Given the description of an element on the screen output the (x, y) to click on. 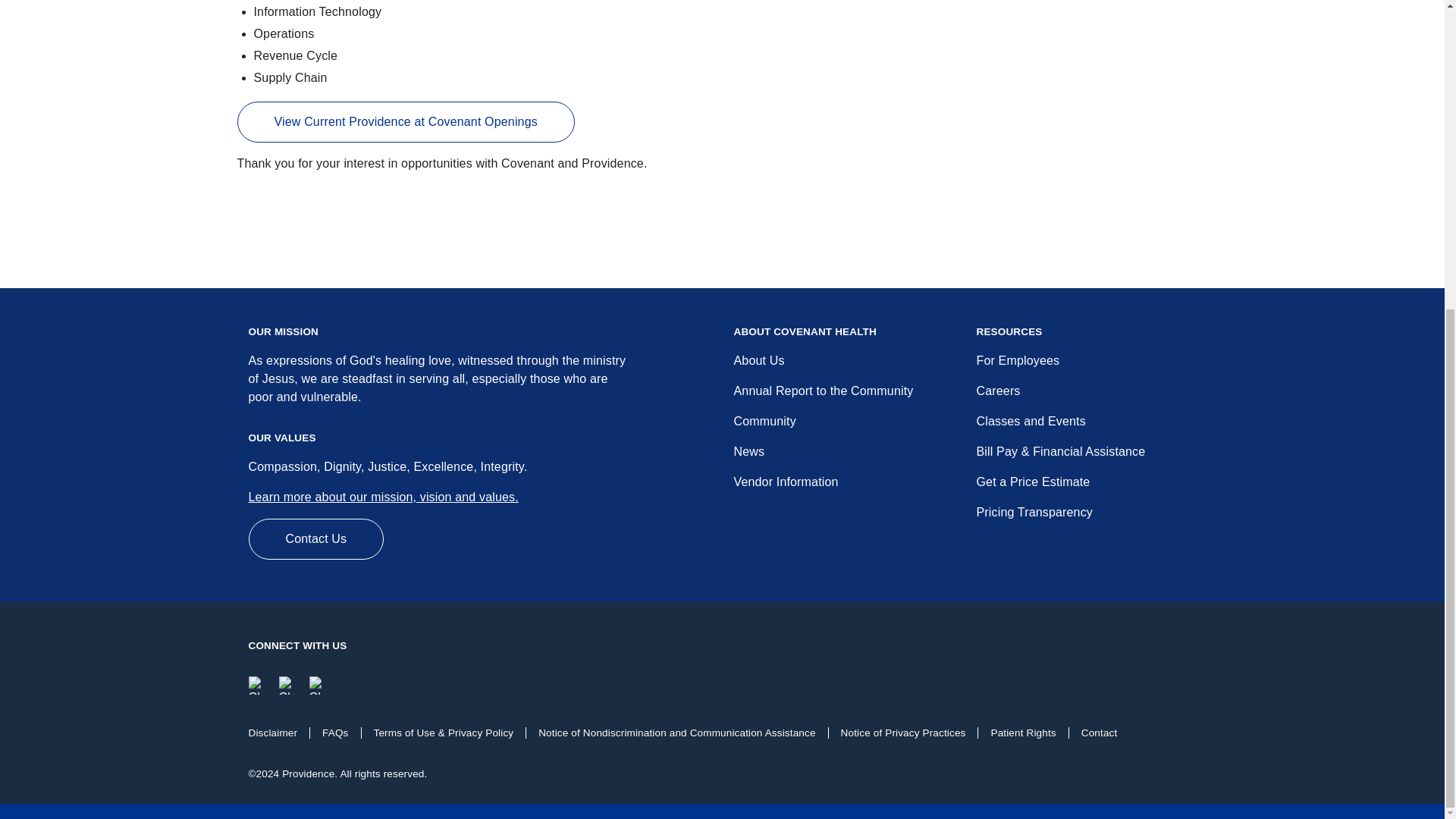
Careers (998, 390)
News (749, 451)
For Employees (1017, 359)
Community (764, 420)
Contact Us (316, 538)
Vendor Information (785, 481)
Annual Report to the Community (823, 390)
Learn more about our mission, vision and values. (383, 496)
View Current Providence at Covenant Openings (404, 121)
About Us (758, 359)
